Given the description of an element on the screen output the (x, y) to click on. 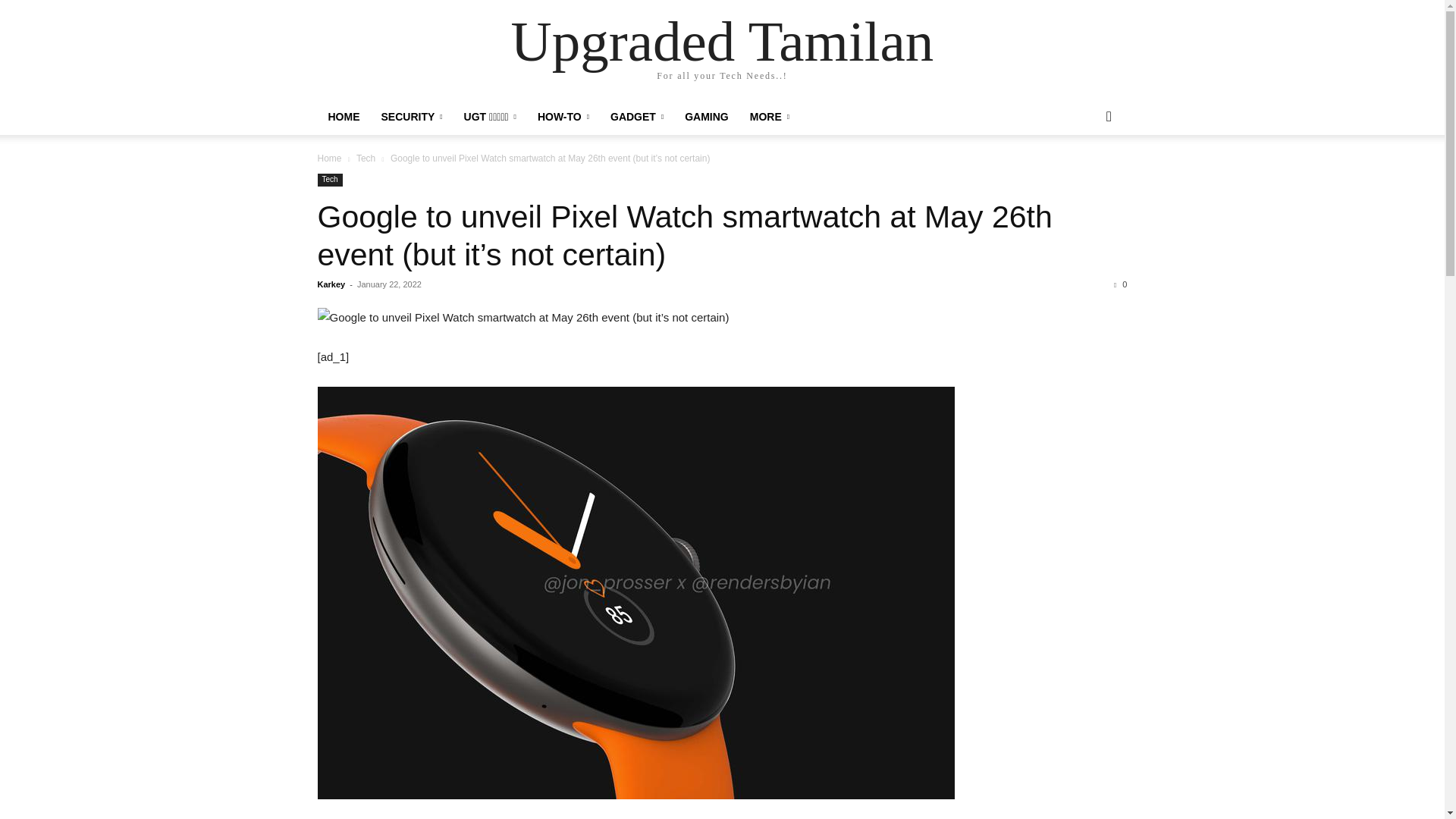
View all posts in Tech (365, 158)
